Given the description of an element on the screen output the (x, y) to click on. 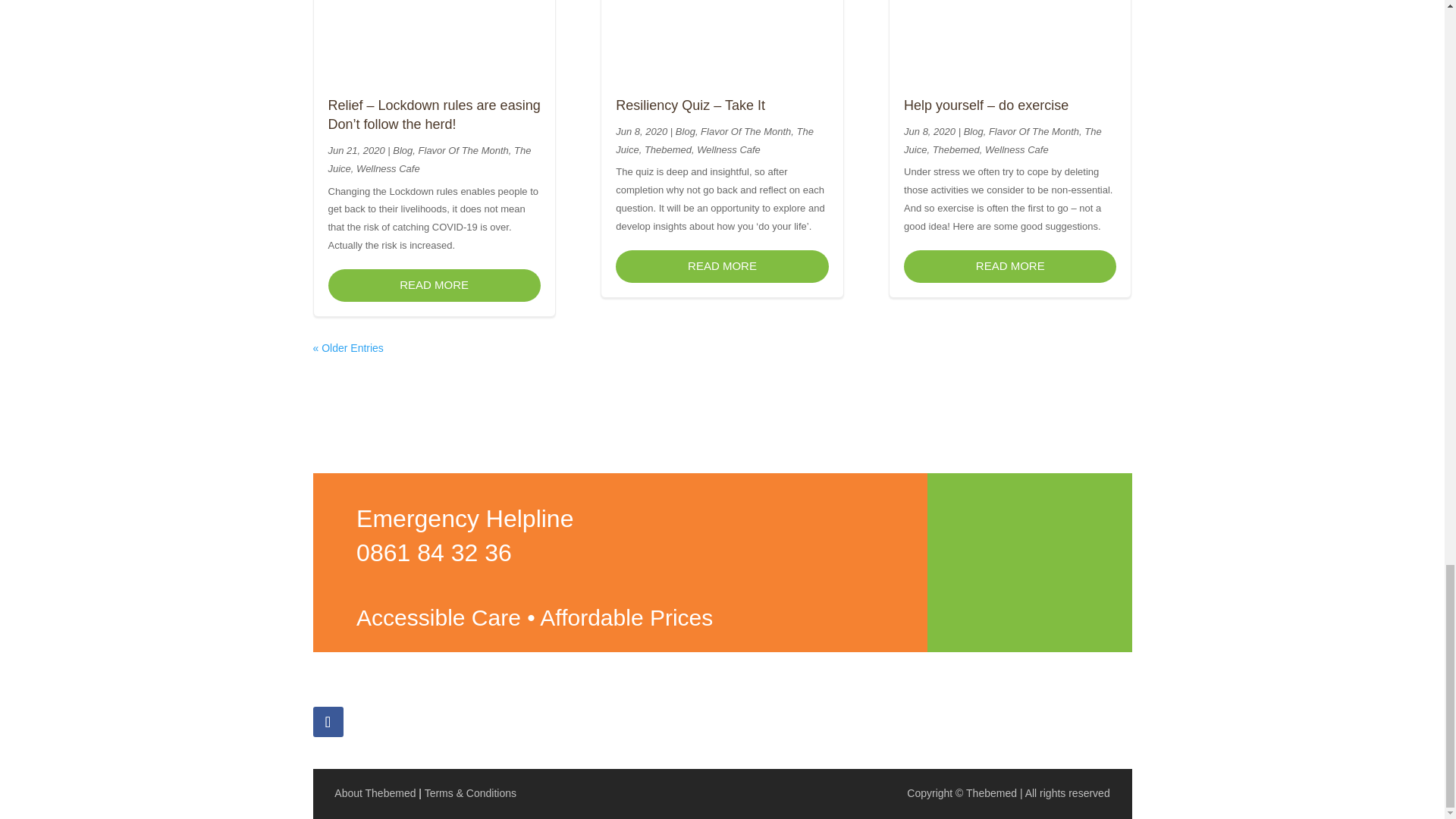
Administered-by-MomTYB (995, 724)
Thebemed Logo - White (1029, 561)
Follow on Facebook (327, 721)
covid-500x (680, 724)
